Given the description of an element on the screen output the (x, y) to click on. 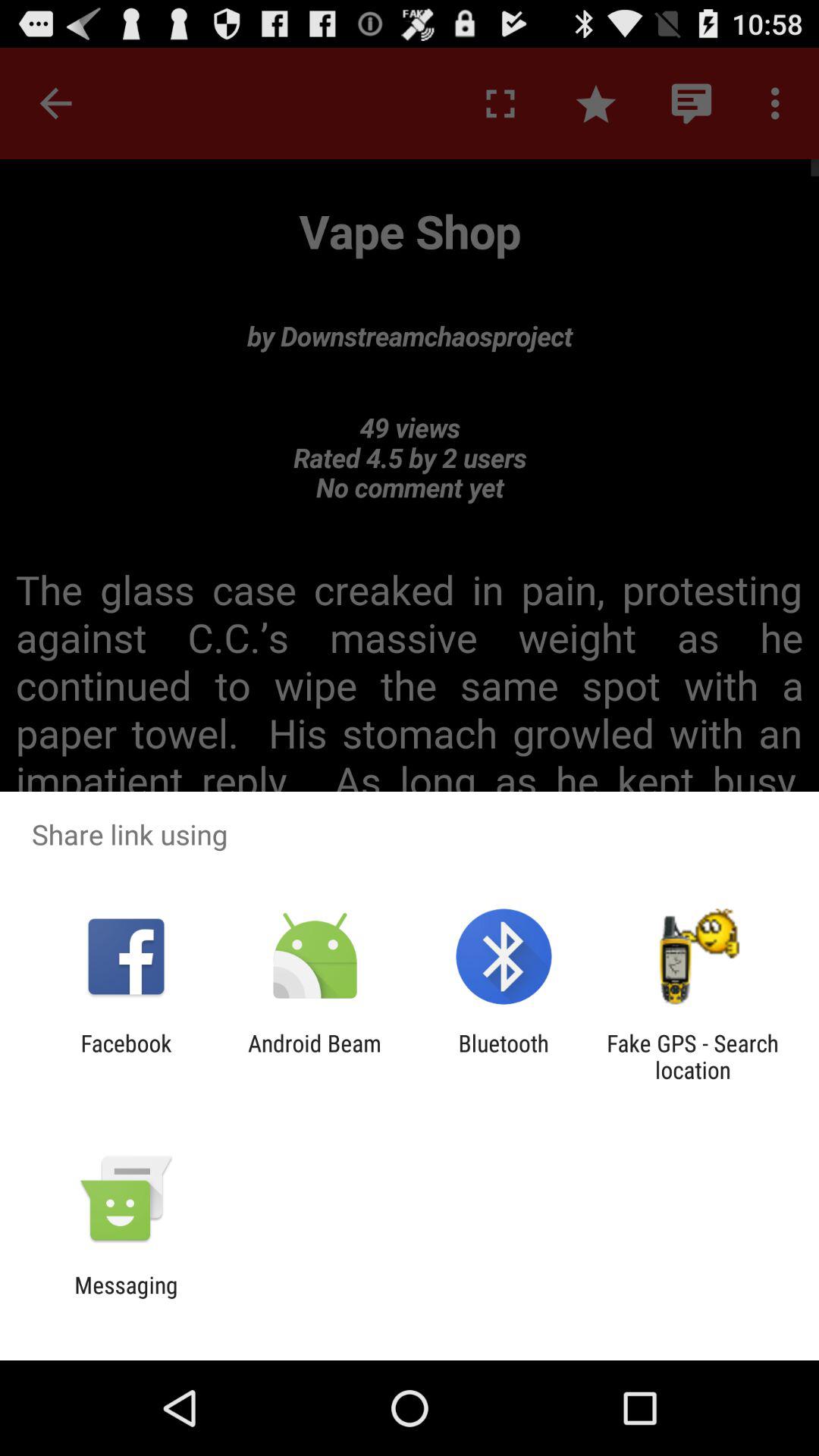
turn on icon next to bluetooth (692, 1056)
